Given the description of an element on the screen output the (x, y) to click on. 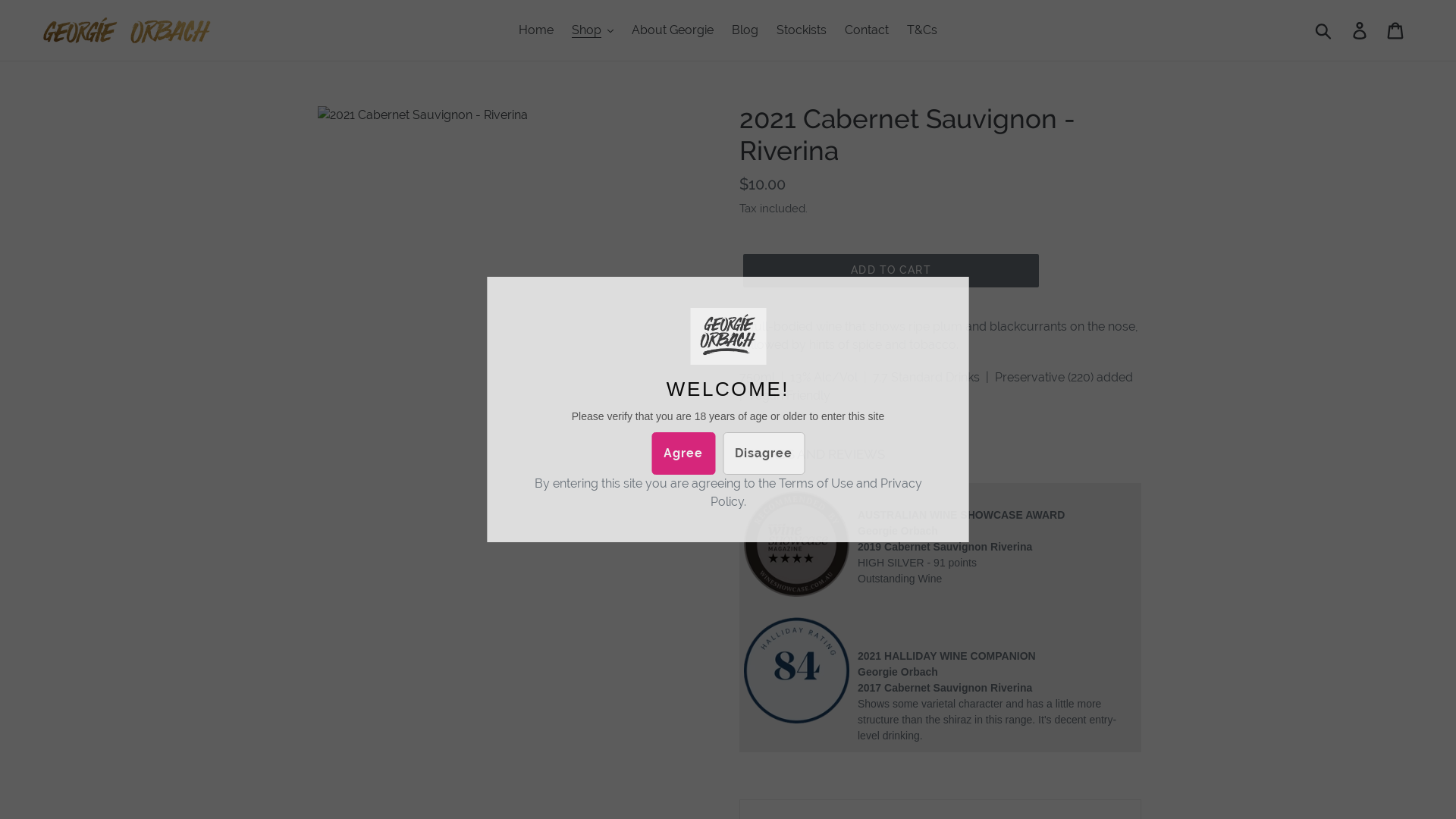
Contact Element type: text (866, 29)
About Georgie Element type: text (672, 29)
Stockists Element type: text (801, 29)
Submit Element type: text (1324, 30)
Agree Element type: text (683, 453)
Cart Element type: text (1396, 30)
Home Element type: text (536, 29)
Blog Element type: text (744, 29)
Disagree Element type: text (763, 453)
Log in Element type: text (1360, 30)
ADD TO CART Element type: text (890, 270)
T&Cs Element type: text (921, 29)
